Given the description of an element on the screen output the (x, y) to click on. 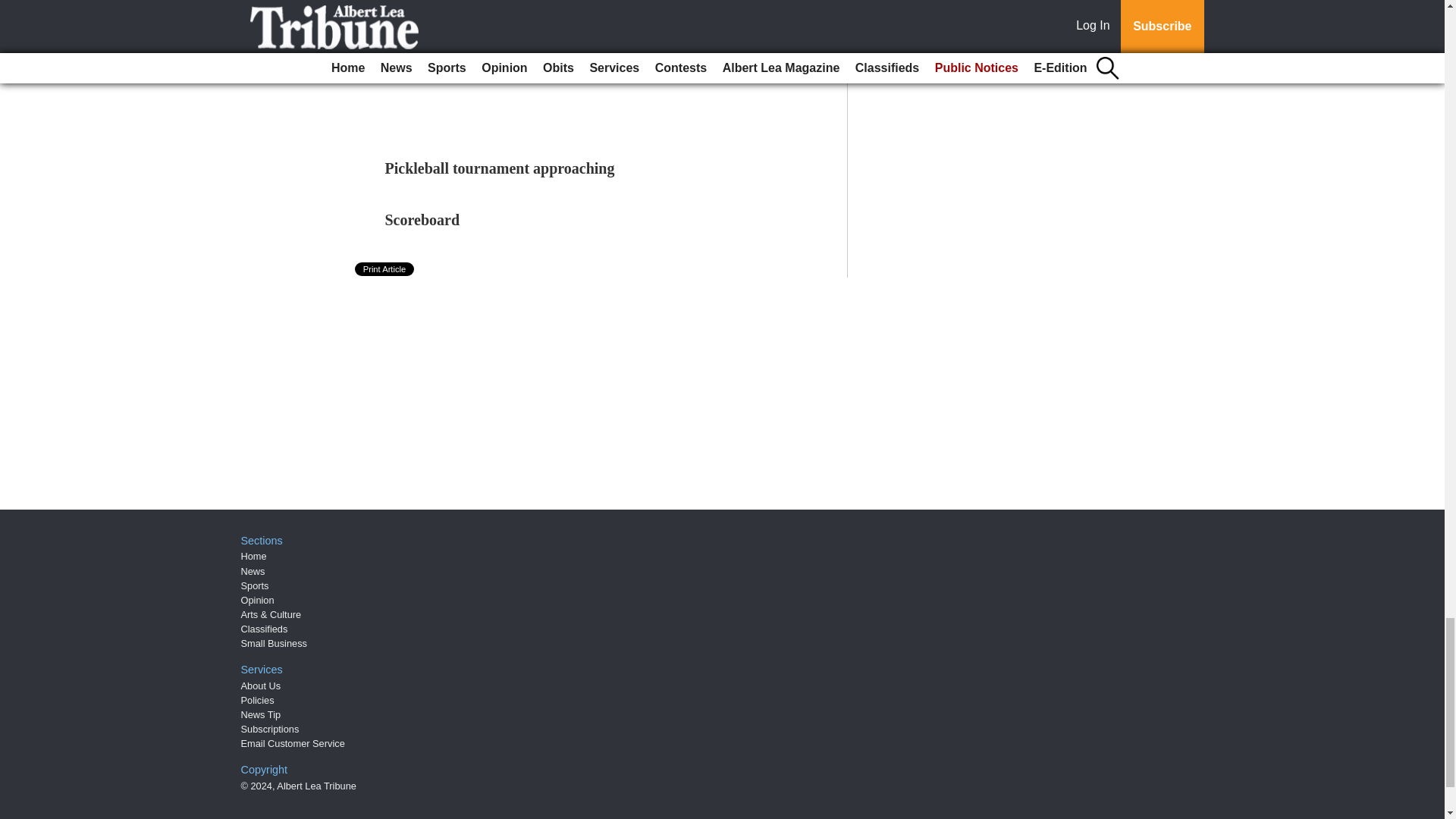
Scoreboard (422, 219)
Hole-in-one at Green Lea (467, 33)
Pickleball tournament approaching (499, 167)
